Given the description of an element on the screen output the (x, y) to click on. 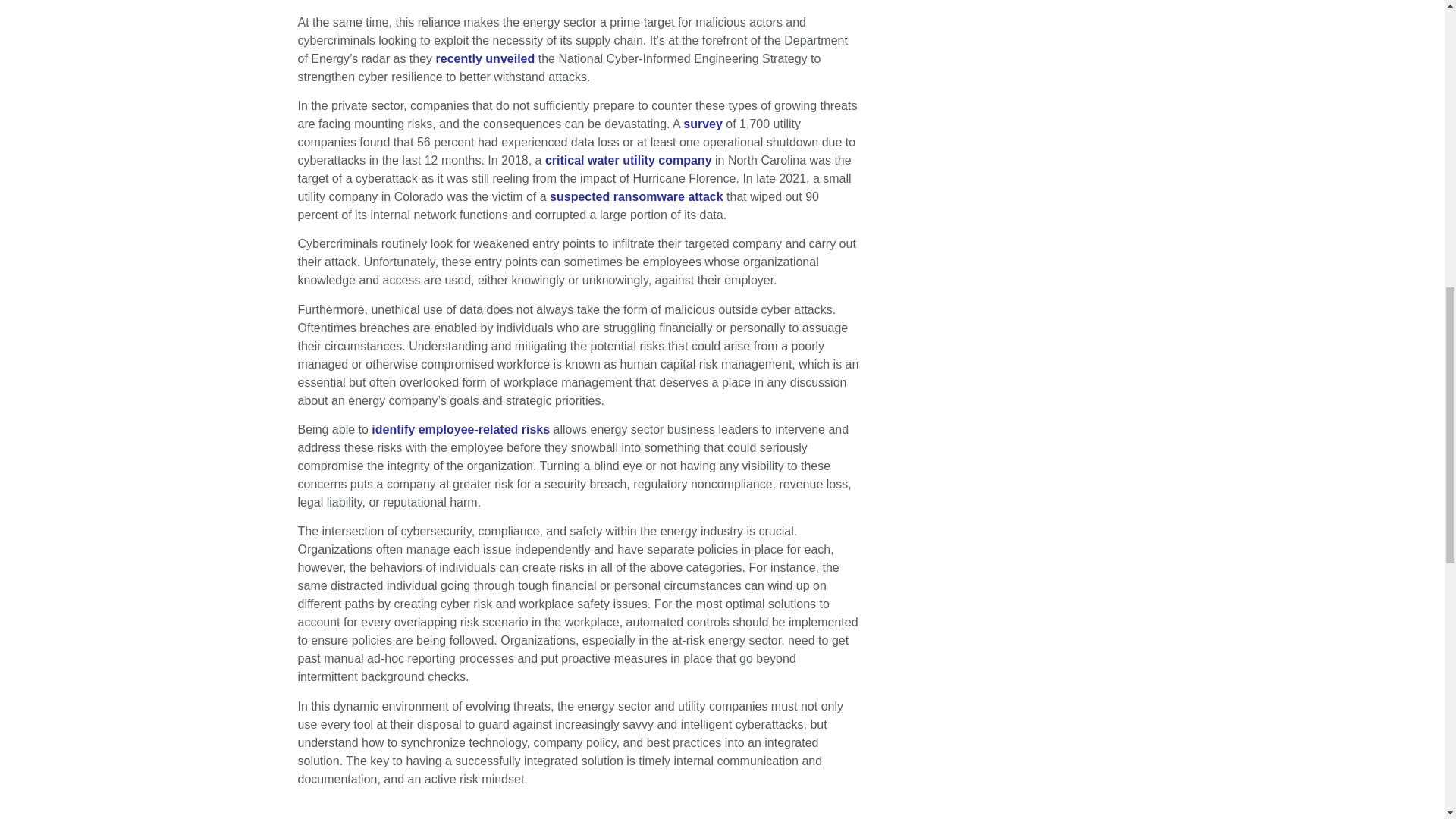
identify employee-related risks (460, 429)
recently unveiled (485, 58)
suspected ransomware attack (636, 196)
critical water utility company (627, 160)
survey (702, 123)
